Given the description of an element on the screen output the (x, y) to click on. 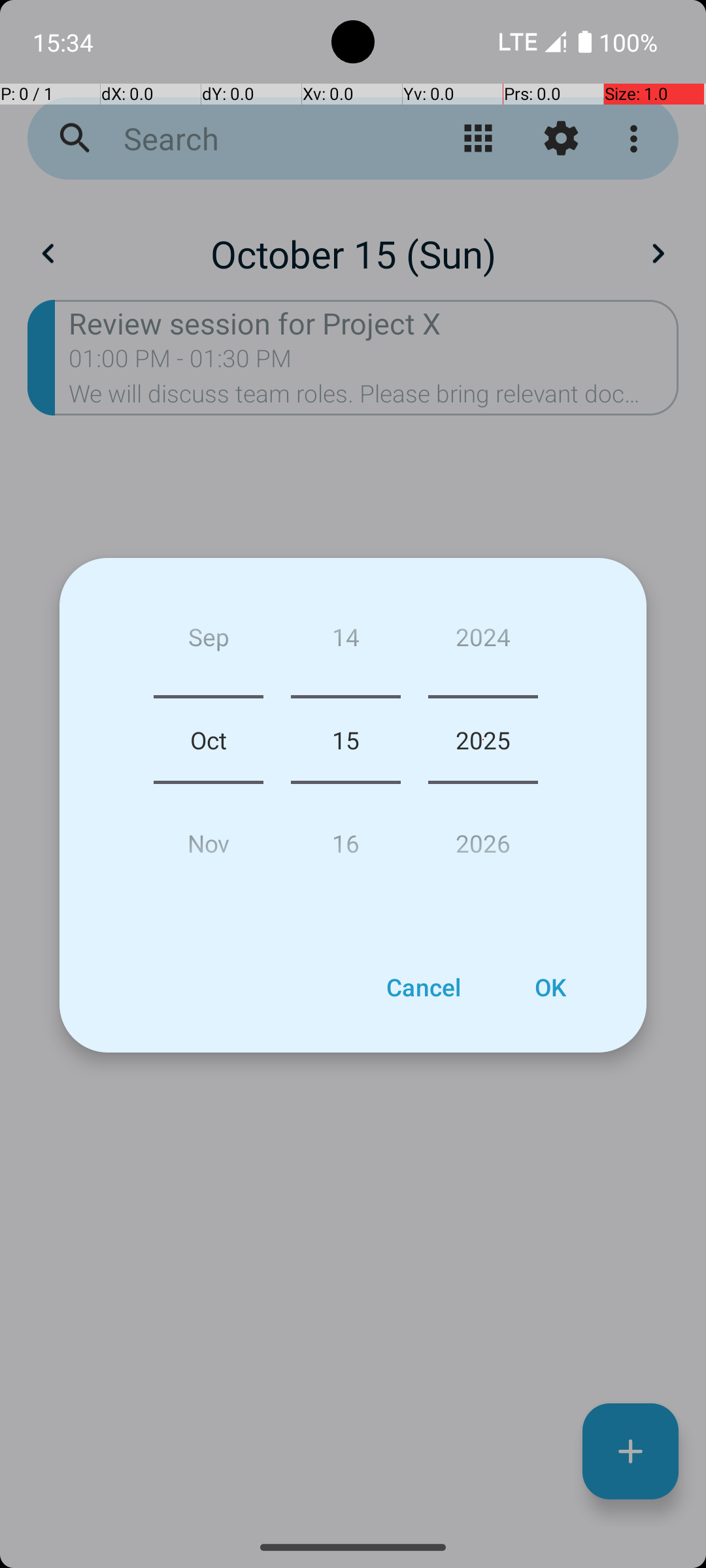
2025 Element type: android.widget.EditText (482, 739)
2026 Element type: android.widget.Button (482, 837)
